Given the description of an element on the screen output the (x, y) to click on. 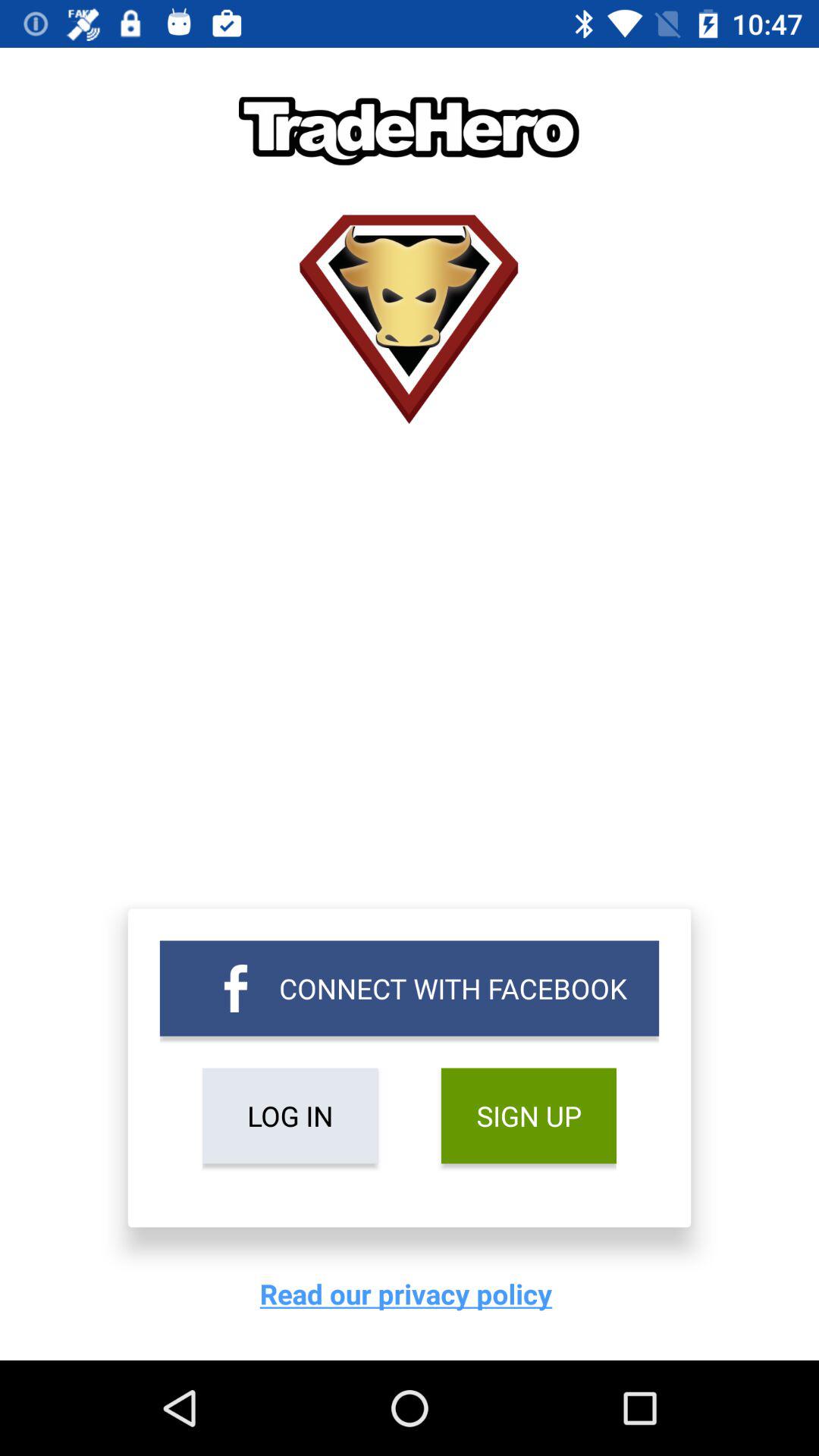
click connect with facebook icon (409, 988)
